Given the description of an element on the screen output the (x, y) to click on. 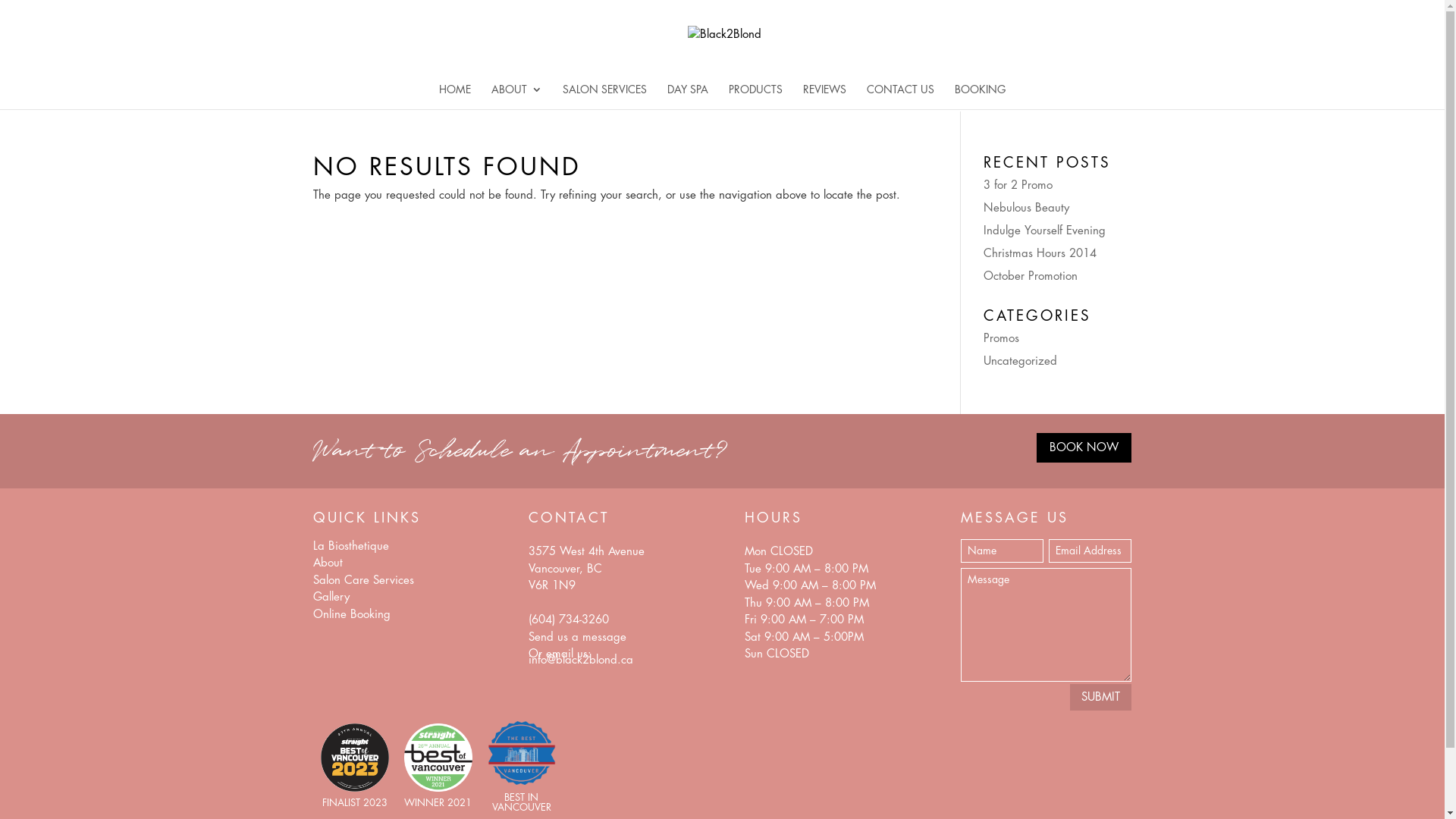
BOOK NOW Element type: text (1083, 447)
ABOUT Element type: text (516, 96)
Uncategorized Element type: text (1020, 360)
Christmas Hours 2014 Element type: text (1039, 253)
SUBMIT Element type: text (1100, 697)
Nebulous Beauty Element type: text (1026, 207)
Promos Element type: text (1001, 337)
info@black2blond.ca Element type: text (580, 659)
Indulge Yourself Evening Element type: text (1044, 230)
SALON SERVICES Element type: text (604, 96)
About Element type: text (327, 562)
October Promotion Element type: text (1030, 276)
BOOKING Element type: text (979, 96)
DAY SPA Element type: text (687, 96)
HOME Element type: text (454, 96)
Best in Vancouver Element type: hover (520, 783)
Online Booking Element type: text (350, 614)
Gallery Element type: text (330, 596)
(604) 734-3260 Element type: text (568, 619)
REVIEWS Element type: text (824, 96)
message Element type: text (604, 637)
PRODUCTS Element type: text (755, 96)
La Biosthetique Element type: text (350, 546)
3 for 2 Promo Element type: text (1017, 185)
Salon Care Services Element type: text (362, 580)
CONTACT US Element type: text (900, 96)
